Given the description of an element on the screen output the (x, y) to click on. 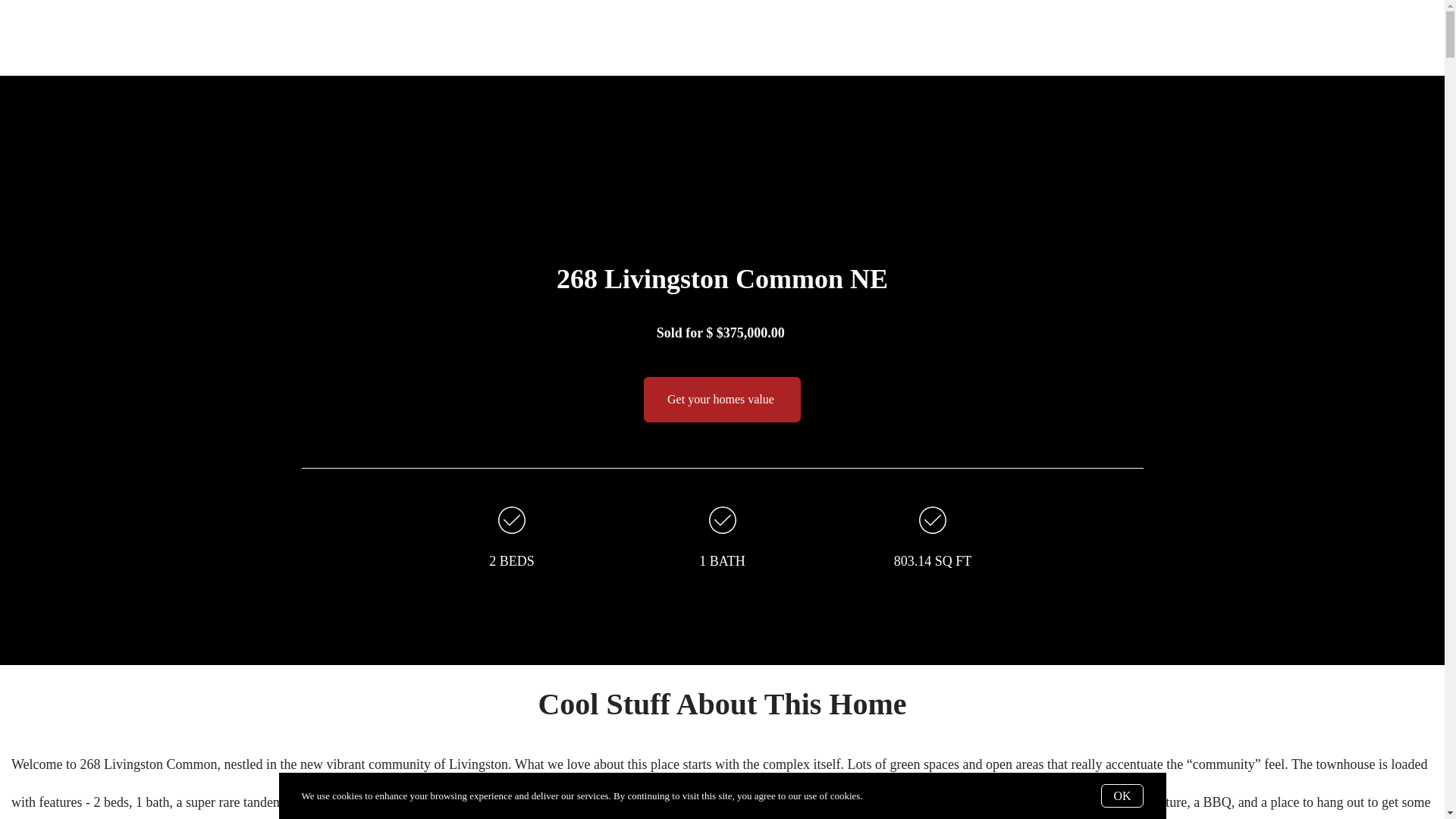
OK (1121, 795)
More info (884, 795)
Get your homes value  (721, 399)
